Given the description of an element on the screen output the (x, y) to click on. 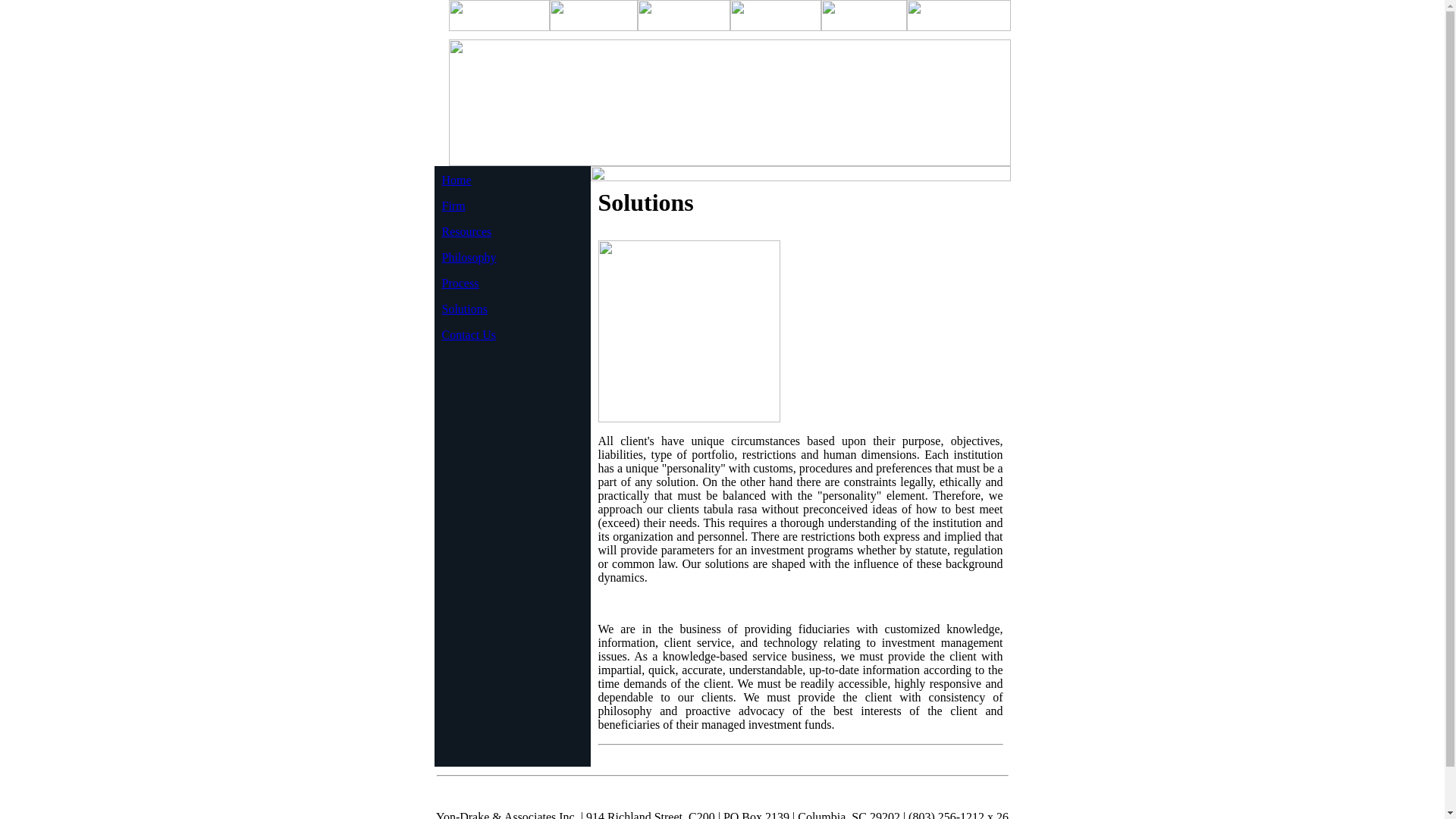
Resources (466, 231)
Philosophy (468, 256)
Process (460, 282)
Solutions (463, 308)
Home (455, 179)
Firm (452, 205)
Contact Us (468, 334)
